Given the description of an element on the screen output the (x, y) to click on. 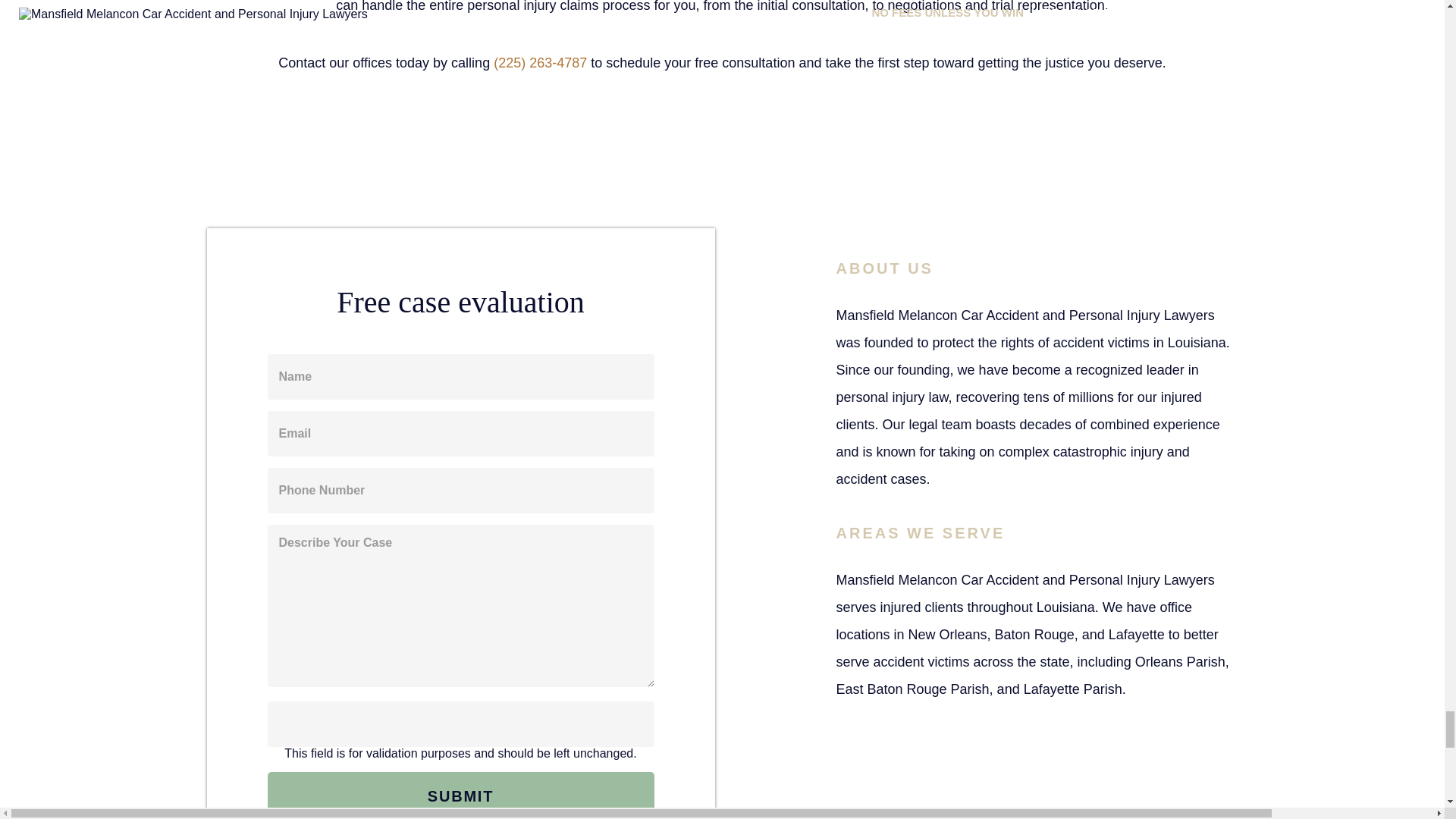
Submit (459, 795)
